Given the description of an element on the screen output the (x, y) to click on. 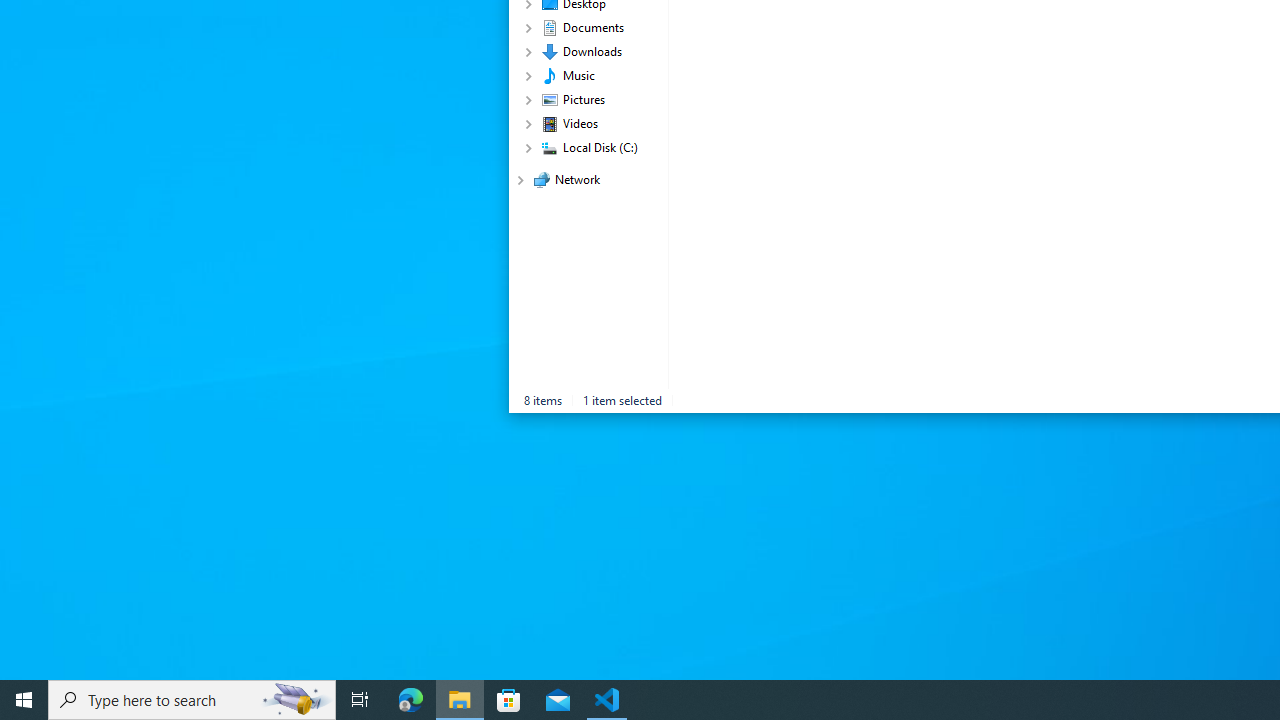
Visual Studio Code - 1 running window (607, 699)
Type here to search (191, 699)
File Explorer - 1 running window (460, 699)
Search highlights icon opens search home window (295, 699)
Microsoft Store (509, 699)
Microsoft Edge (411, 699)
Task View (359, 699)
Start (24, 699)
